Given the description of an element on the screen output the (x, y) to click on. 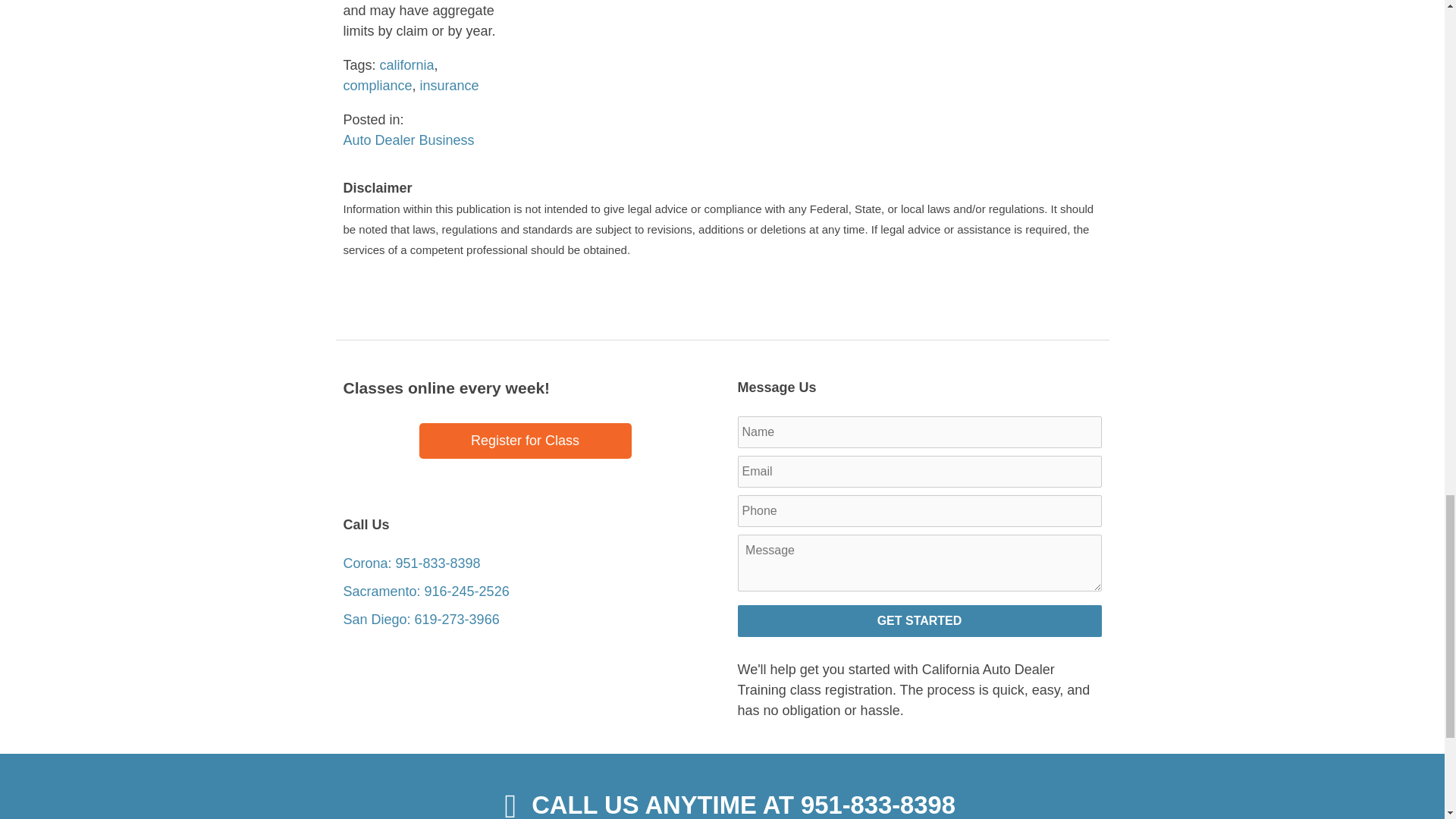
Register for Class (524, 440)
San Diego: 619-273-3966 (420, 619)
insurance (449, 85)
Sacramento: 916-245-2526 (425, 590)
Get Started (918, 621)
Get Started (918, 621)
Corona: 951-833-8398 (411, 563)
Auto Dealer Business (408, 140)
CALL US ANYTIME AT 951-833-8398 (721, 802)
compliance (377, 85)
